Given the description of an element on the screen output the (x, y) to click on. 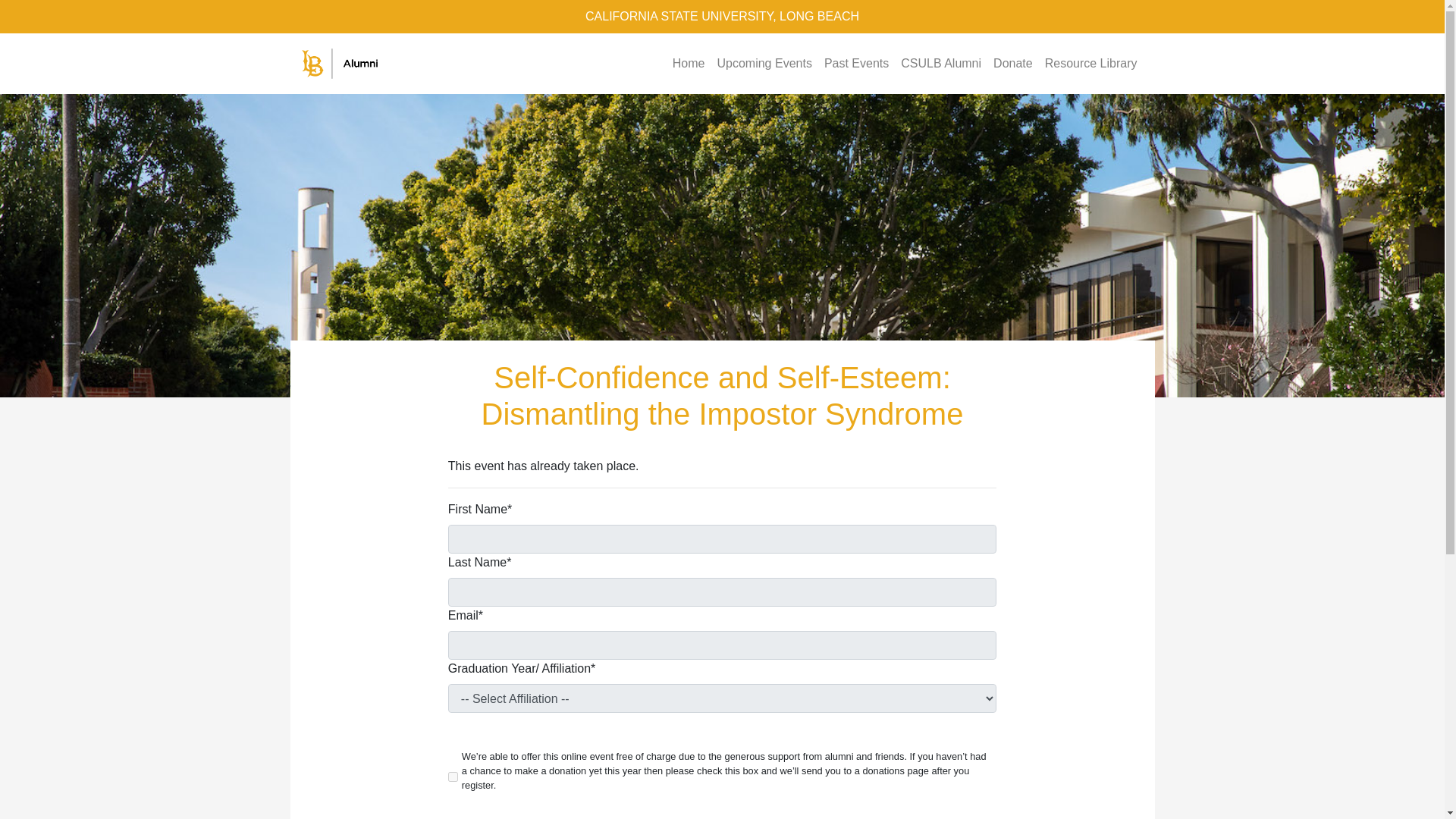
Donate (1013, 63)
Upcoming Events (763, 63)
1 (453, 777)
Resource Library (1090, 63)
CSULB Alumni (941, 63)
Past Events (856, 63)
